Given the description of an element on the screen output the (x, y) to click on. 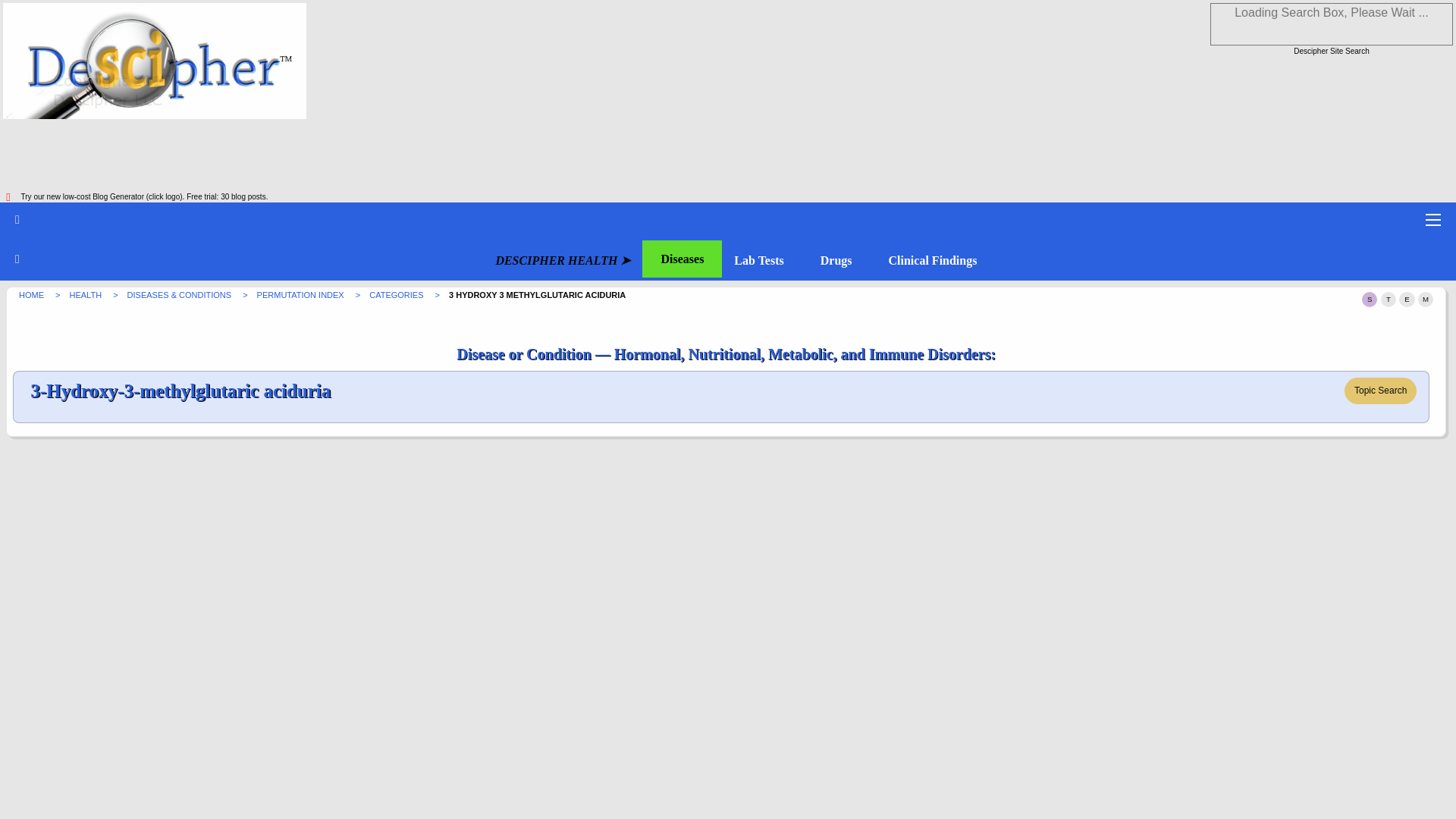
CATEGORIES (397, 294)
HEALTH (86, 294)
Topic Search (1379, 390)
Drugs (836, 260)
Diseases (681, 258)
PERMUTATION INDEX (301, 294)
Clinical Findings (933, 260)
HOME (32, 294)
Lab Tests (758, 260)
